Given the description of an element on the screen output the (x, y) to click on. 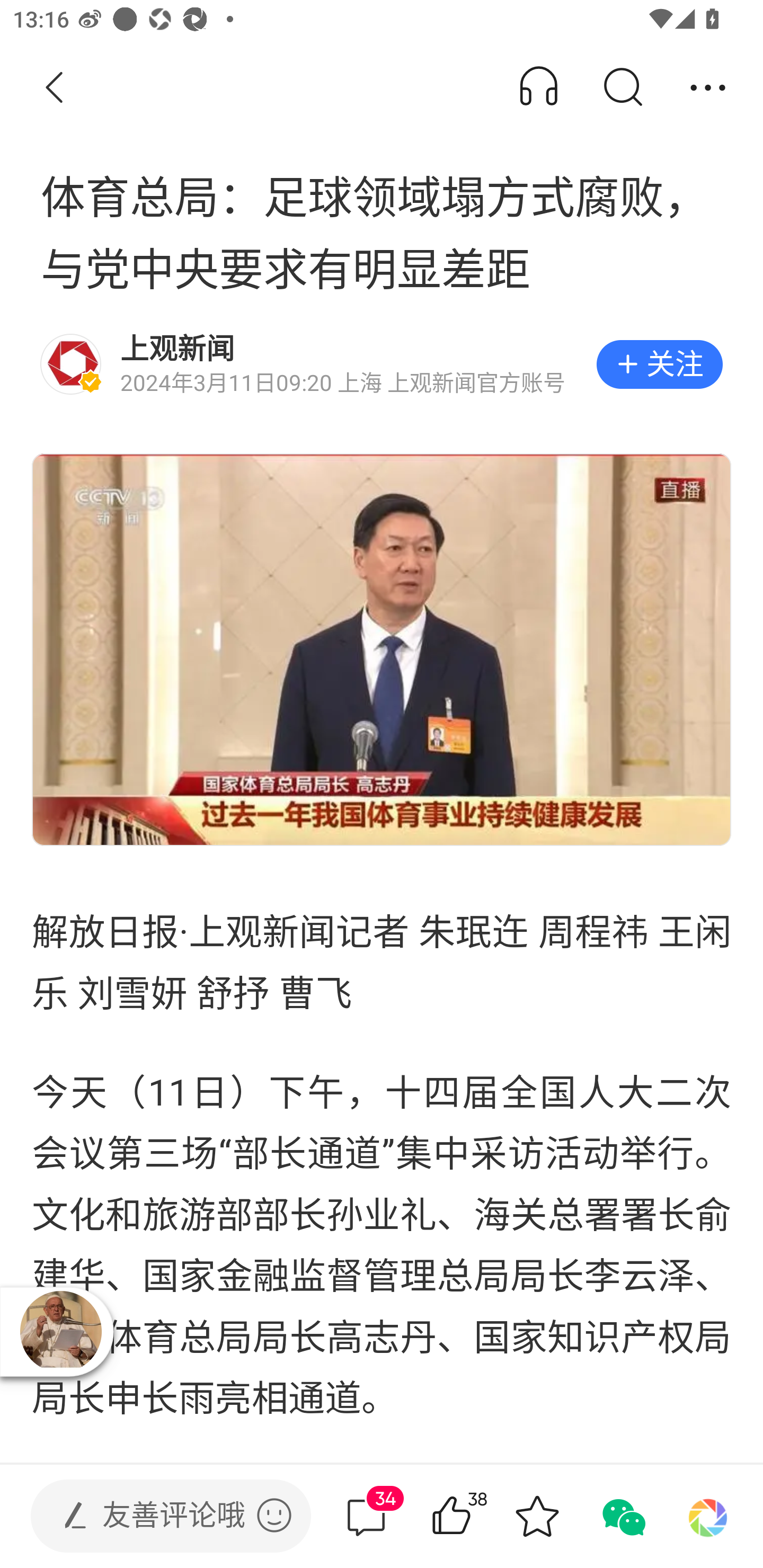
搜索  (622, 87)
分享  (707, 87)
 返回 (54, 87)
上观新闻 2024年3月11日09:20 上海 上观新闻官方账号  关注 (381, 364)
 关注 (659, 364)
新闻图片 (381, 649)
播放器 (60, 1331)
发表评论  友善评论哦 发表评论  (155, 1516)
34评论  34 评论 (365, 1516)
38赞 (476, 1516)
收藏  (536, 1516)
分享到微信  (622, 1516)
分享到朋友圈 (707, 1516)
 (274, 1515)
